Given the description of an element on the screen output the (x, y) to click on. 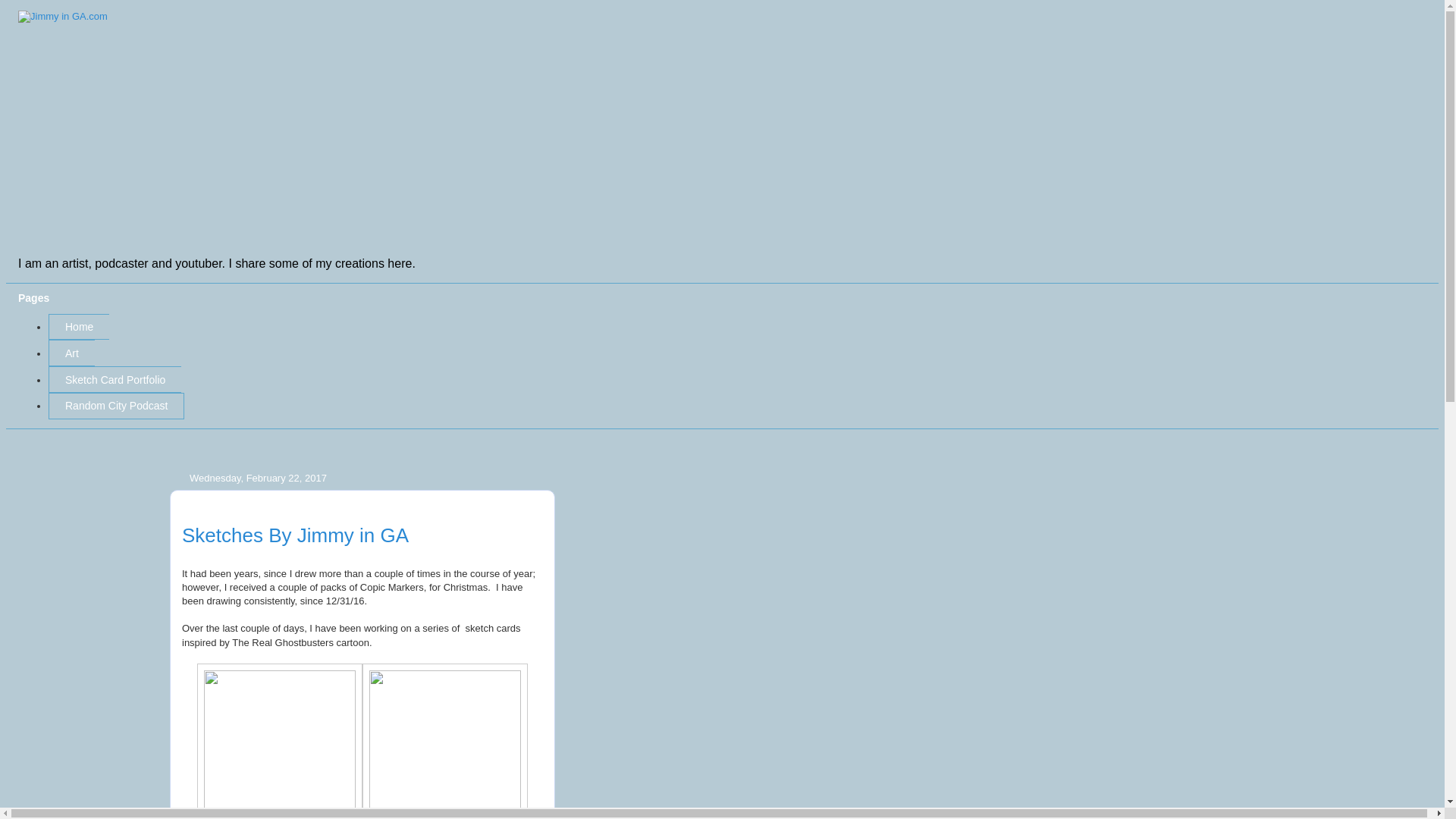
Sketch Card Portfolio (114, 379)
Art (71, 352)
Random City Podcast (116, 406)
Home (78, 326)
